Given the description of an element on the screen output the (x, y) to click on. 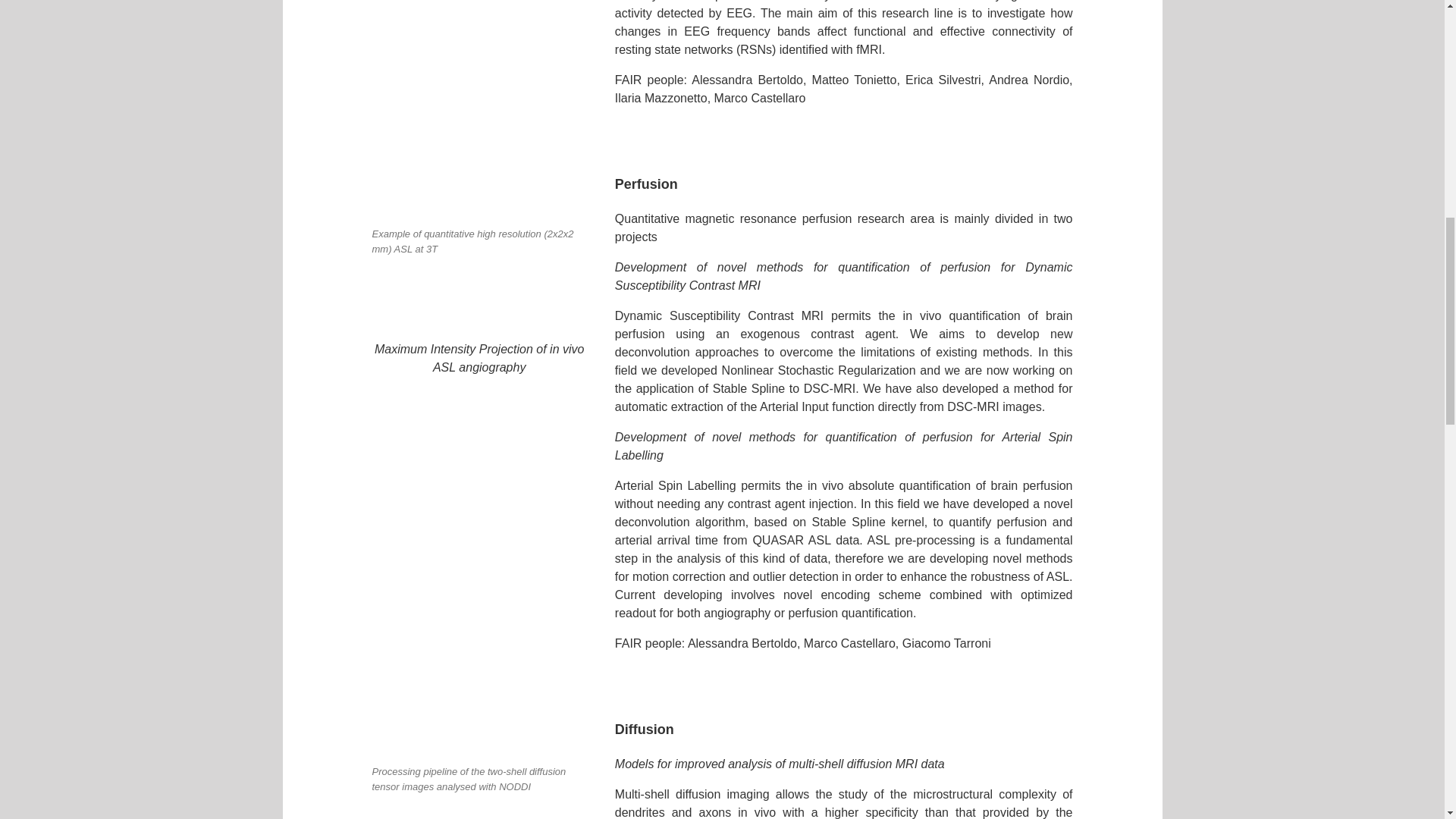
Marco Castellaro (849, 643)
Alessandra Bertoldo (741, 643)
Erica Silvestri (943, 79)
Andrea Nordio (1028, 79)
Alessandra Bertoldo (747, 79)
Ilaria Mazzonetto (660, 97)
Matteo Tonietto (854, 79)
Giacomo Tarroni (946, 643)
Marco Castellaro (760, 97)
